Given the description of an element on the screen output the (x, y) to click on. 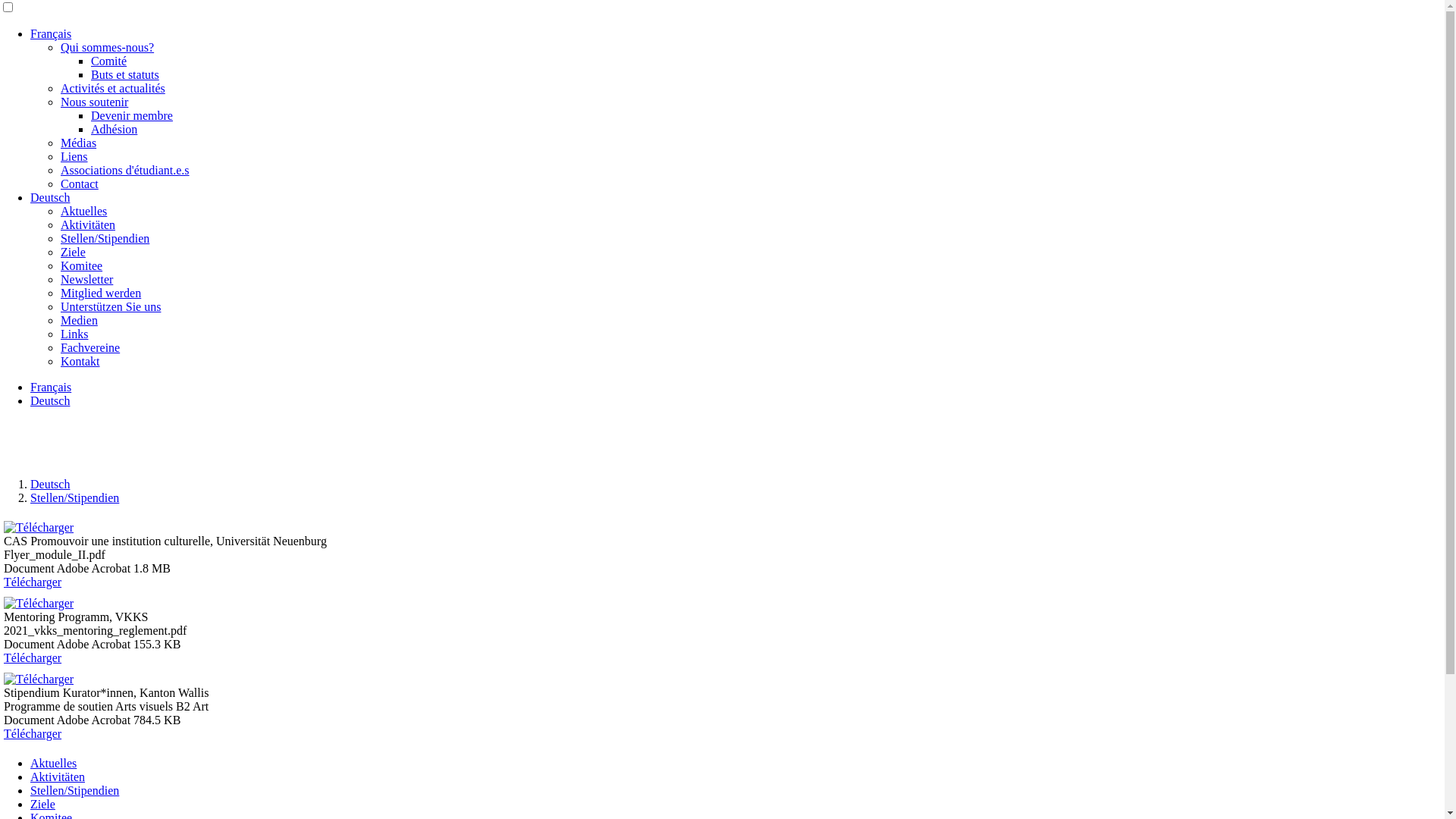
Stellen/Stipendien Element type: text (74, 497)
Newsletter Element type: text (86, 279)
Medien Element type: text (78, 319)
Komitee Element type: text (81, 265)
Liens Element type: text (73, 156)
Ziele Element type: text (42, 803)
Deutsch Element type: text (49, 400)
Stellen/Stipendien Element type: text (74, 790)
Links Element type: text (73, 333)
Ziele Element type: text (72, 251)
Kontakt Element type: text (80, 360)
Aktuelles Element type: text (83, 210)
Aktuelles Element type: text (53, 762)
Stellen/Stipendien Element type: text (104, 238)
Mitglied werden Element type: text (100, 292)
Deutsch Element type: text (49, 197)
Contact Element type: text (79, 183)
Deutsch Element type: text (49, 483)
Buts et statuts Element type: text (125, 74)
Devenir membre Element type: text (131, 115)
Nous soutenir Element type: text (94, 101)
Qui sommes-nous? Element type: text (106, 46)
Fachvereine Element type: text (89, 347)
